Given the description of an element on the screen output the (x, y) to click on. 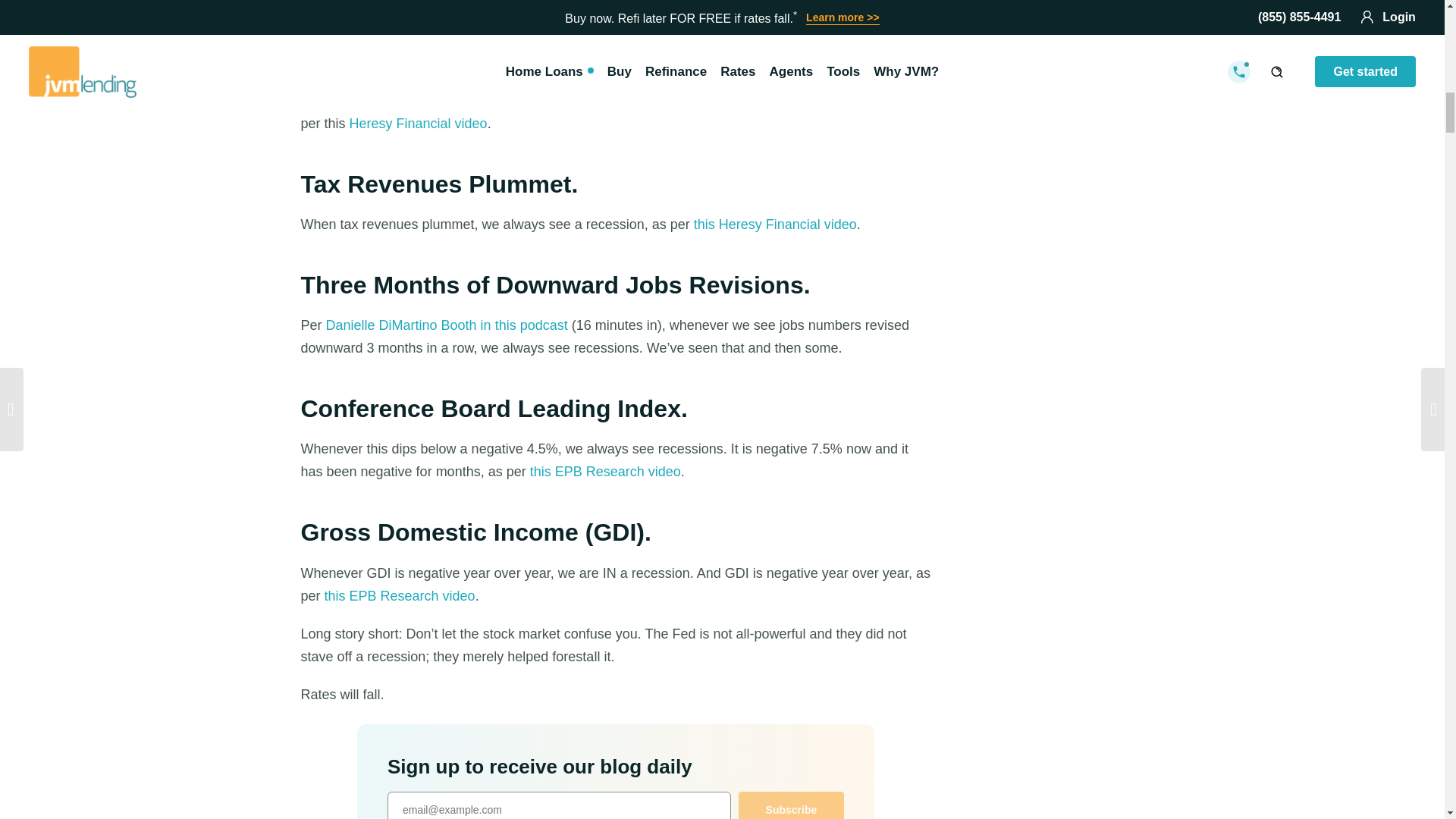
Subscribe (791, 805)
